Given the description of an element on the screen output the (x, y) to click on. 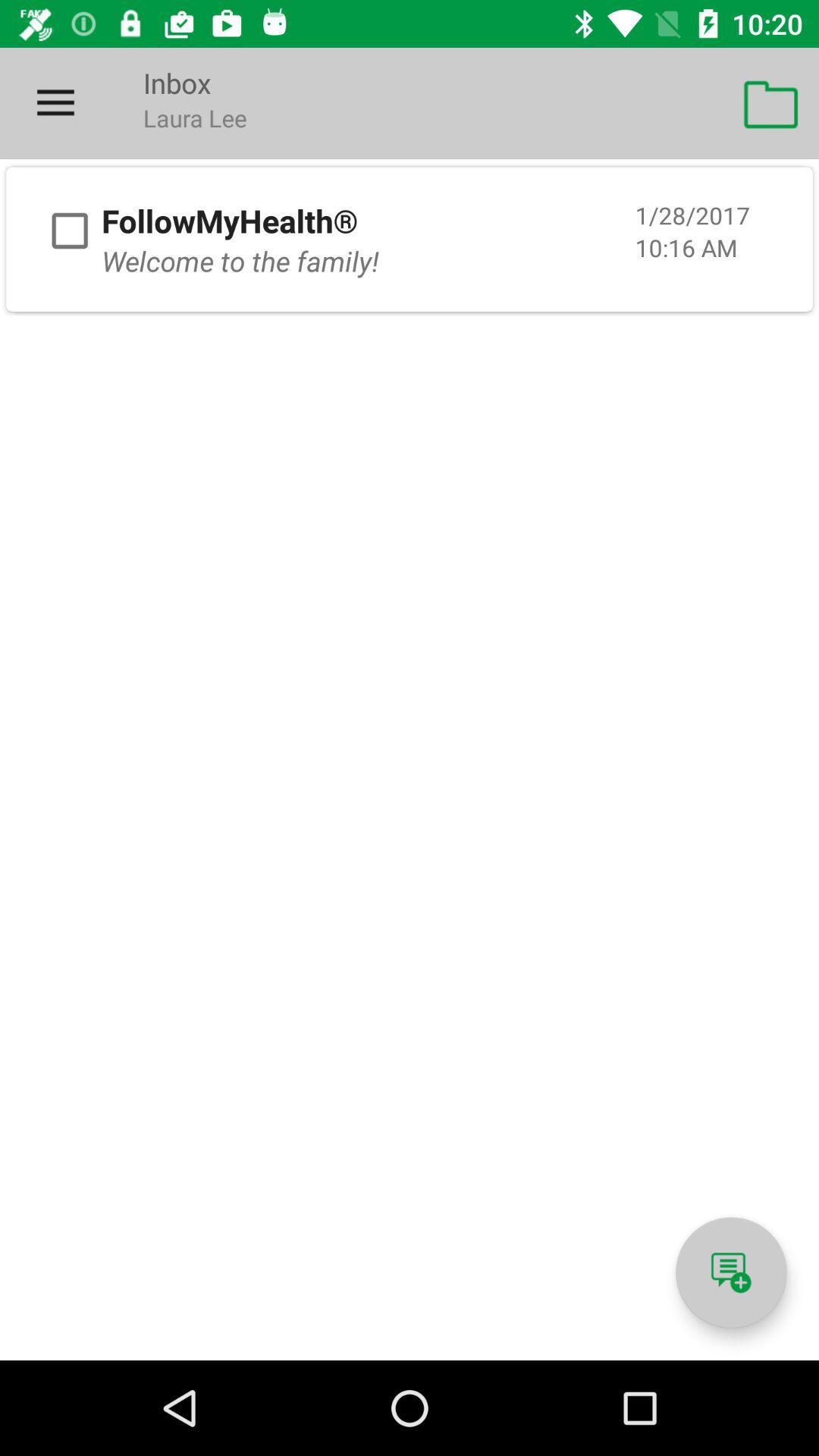
add messages (731, 1272)
